Given the description of an element on the screen output the (x, y) to click on. 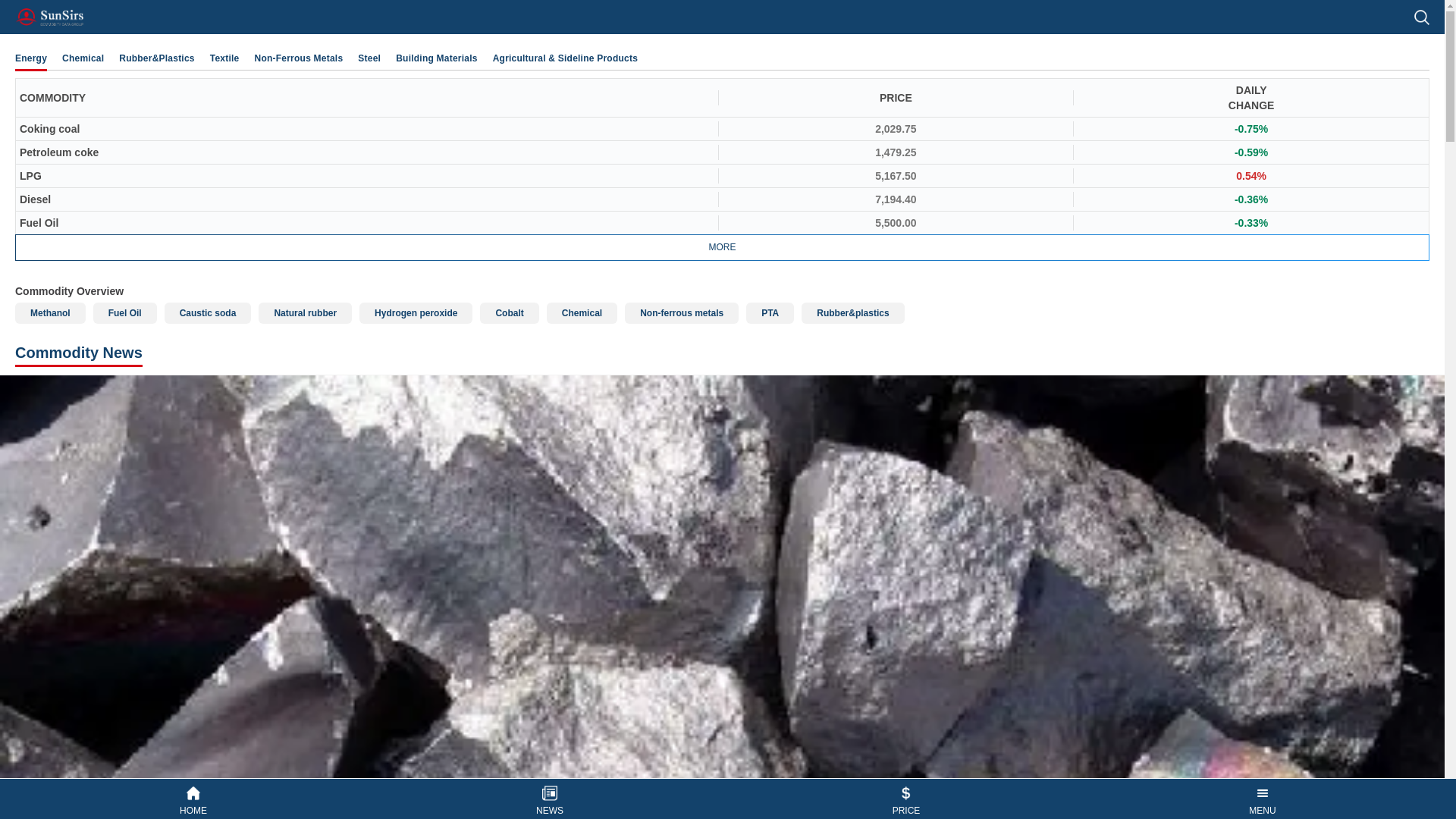
MORE (722, 247)
Textile (224, 58)
Cobalt (509, 312)
Fuel Oil (125, 312)
Steel (369, 58)
Chemical (82, 58)
Natural rubber (305, 312)
Energy (30, 58)
Non-Ferrous Metals (298, 58)
Caustic soda (207, 312)
Chemical (582, 312)
Building Materials (436, 58)
Methanol (49, 312)
PTA (769, 312)
Non-ferrous metals (681, 312)
